Given the description of an element on the screen output the (x, y) to click on. 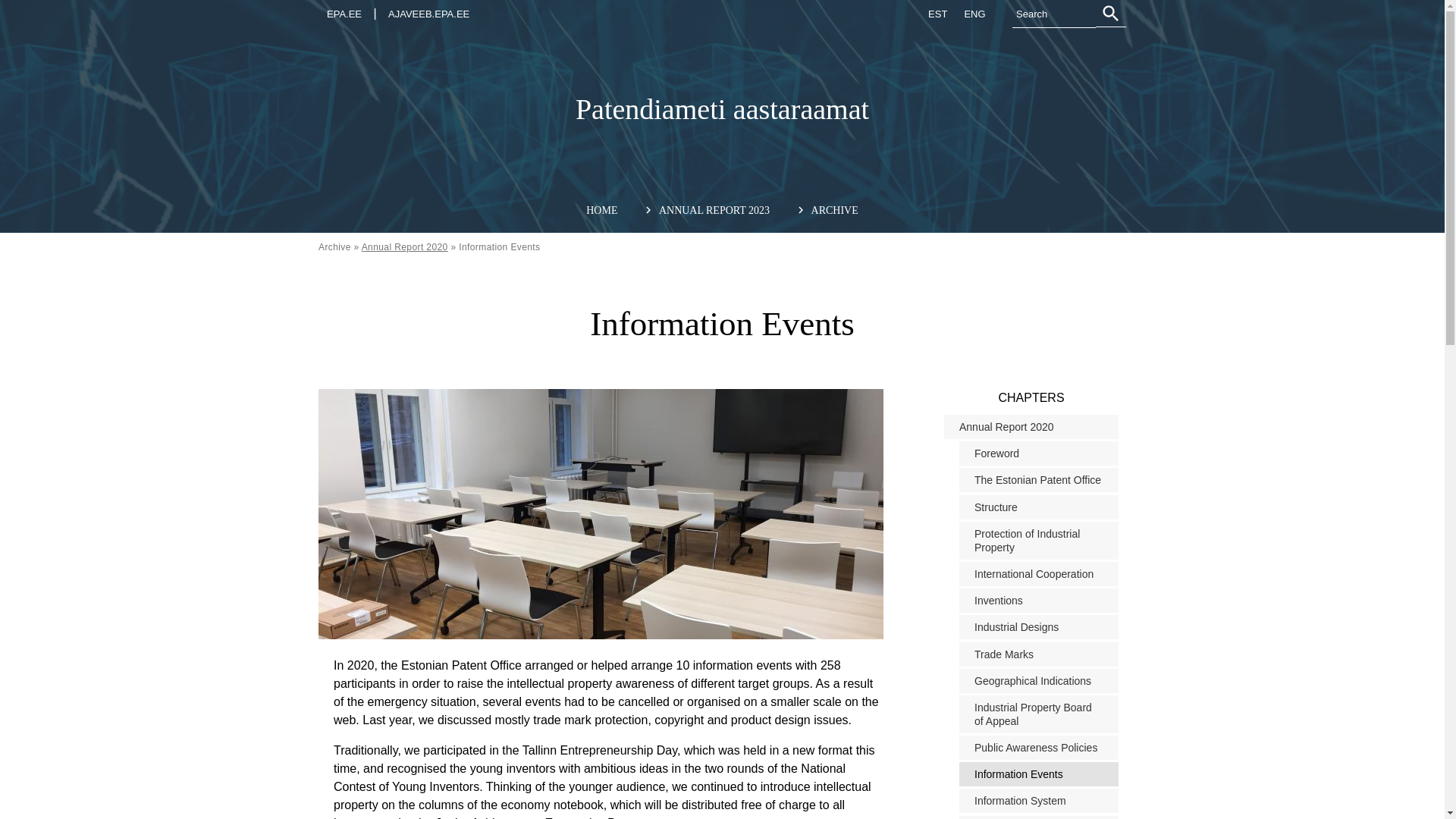
ENG (973, 13)
Otsi (1110, 13)
EST (937, 13)
HOME (601, 210)
AJAVEEB.EPA.EE (428, 13)
Otsi (1110, 13)
Patendiameti aastaraamat (722, 109)
ANNUAL REPORT 2023 (714, 210)
EPA.EE (343, 13)
